Given the description of an element on the screen output the (x, y) to click on. 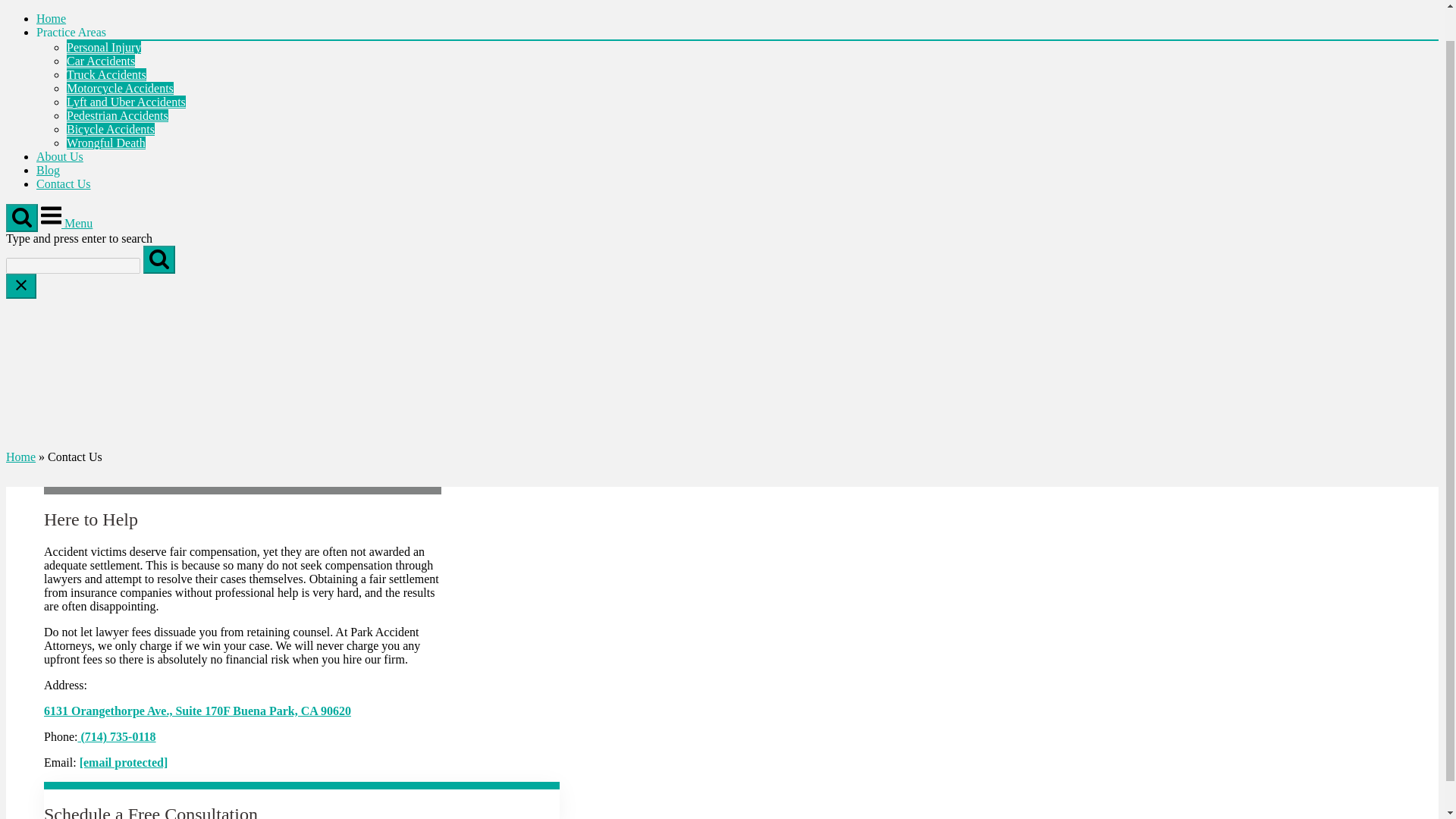
Truck Accidents (106, 74)
Contact Us (63, 183)
Lyft and Uber Accidents (126, 101)
Home (19, 456)
Menu (66, 223)
Wrongful Death (105, 142)
Pedestrian Accidents (117, 115)
Blog (47, 169)
Personal Injury (103, 47)
Car Accidents (100, 60)
Bicycle Accidents (110, 128)
6131 Orangethorpe Ave., Suite 170F Buena Park, CA 90620 (196, 710)
Home (50, 18)
About Us (59, 155)
Practice Areas (71, 31)
